Given the description of an element on the screen output the (x, y) to click on. 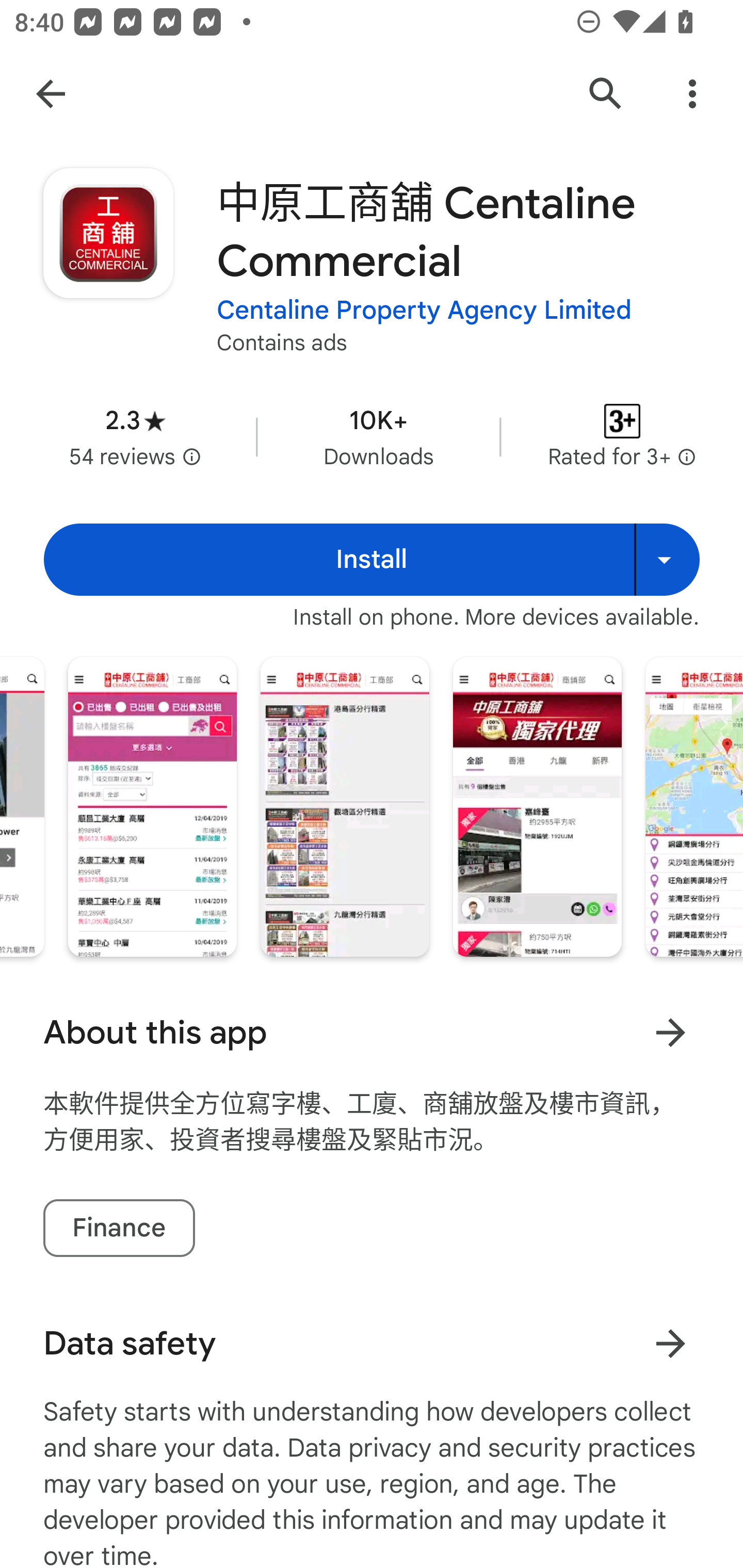
Navigate up (50, 93)
Search Google Play (605, 93)
More Options (692, 93)
Centaline Property Agency Limited (423, 310)
Average rating 2.3 stars in 54 reviews (135, 436)
Content rating Rated for 3+ (622, 436)
Install Install Install on more devices (371, 559)
Install on more devices (667, 559)
Screenshot "4" of "8" (152, 806)
Screenshot "5" of "8" (344, 806)
Screenshot "6" of "8" (537, 806)
About this app Learn more About this app (371, 1032)
Learn more About this app (670, 1032)
Finance tag (118, 1228)
Data safety Learn more about data safety (371, 1343)
Learn more about data safety (670, 1343)
